Given the description of an element on the screen output the (x, y) to click on. 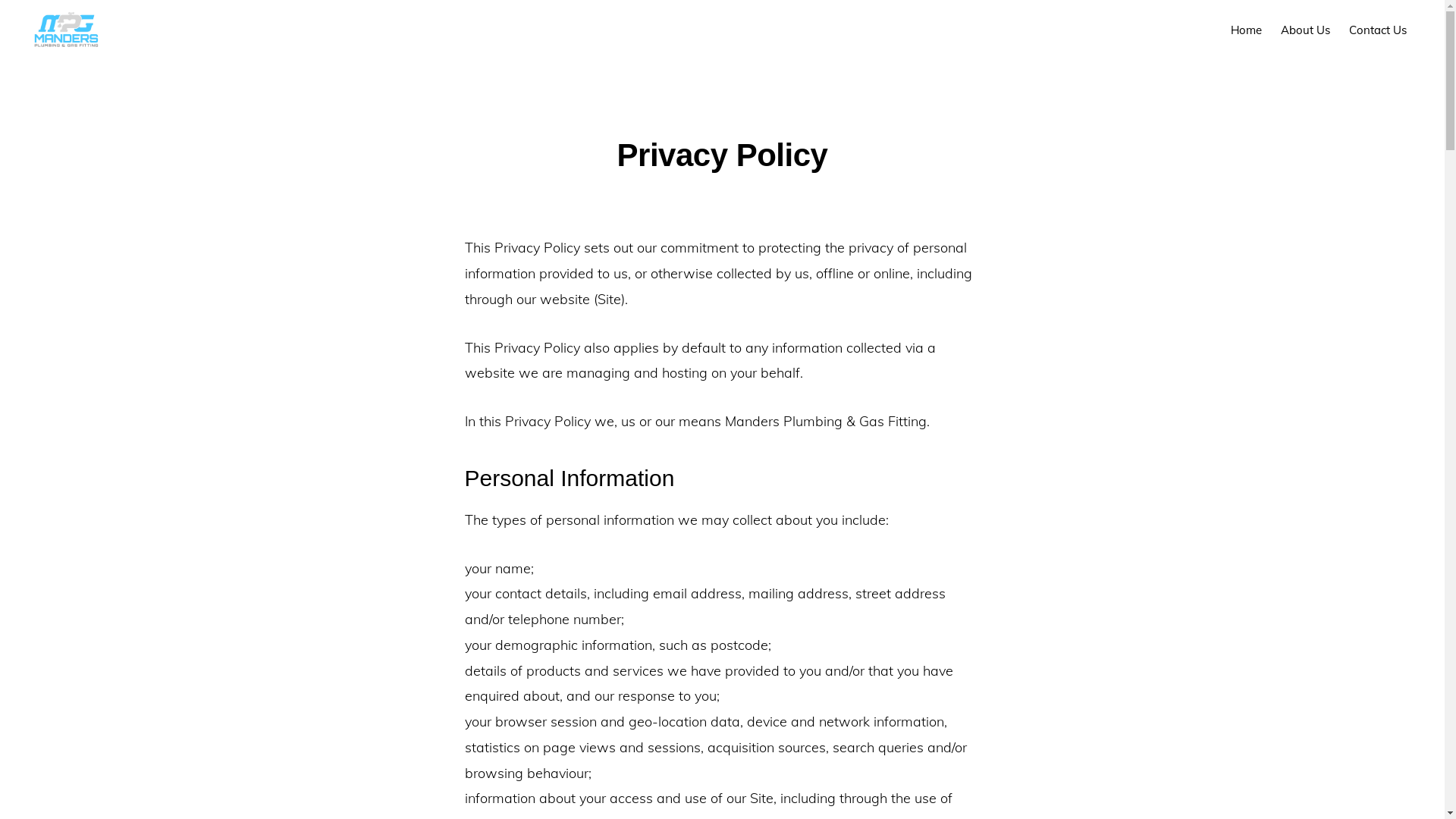
About Us Element type: text (1305, 29)
Log in Element type: text (899, 783)
Contact Us Element type: text (1377, 29)
Home Element type: text (1246, 29)
Skip to primary navigation Element type: text (0, 0)
Olivitek Element type: text (969, 783)
Privacy Policy Element type: text (844, 783)
